Given the description of an element on the screen output the (x, y) to click on. 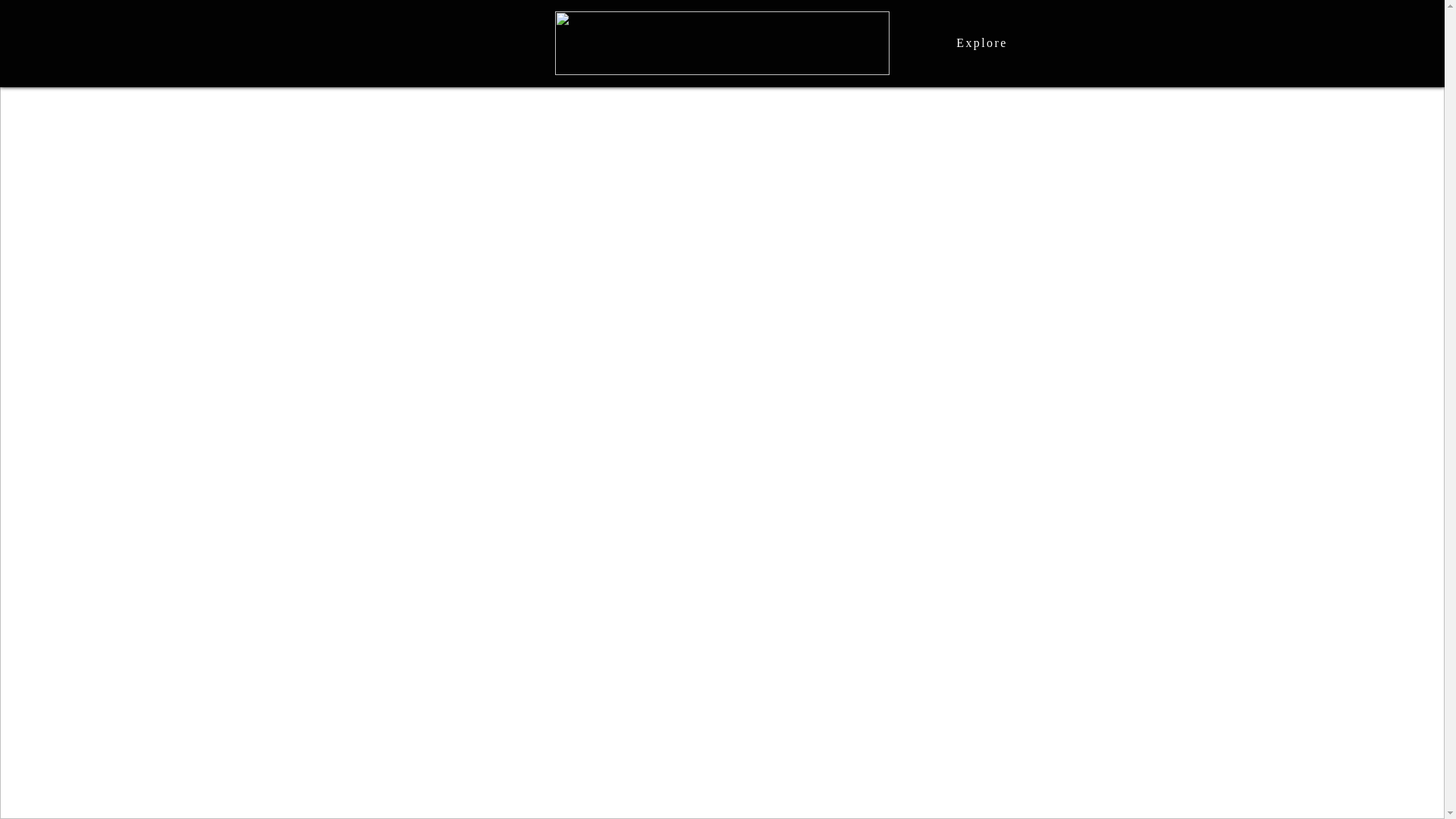
Explore Element type: text (981, 43)
